Given the description of an element on the screen output the (x, y) to click on. 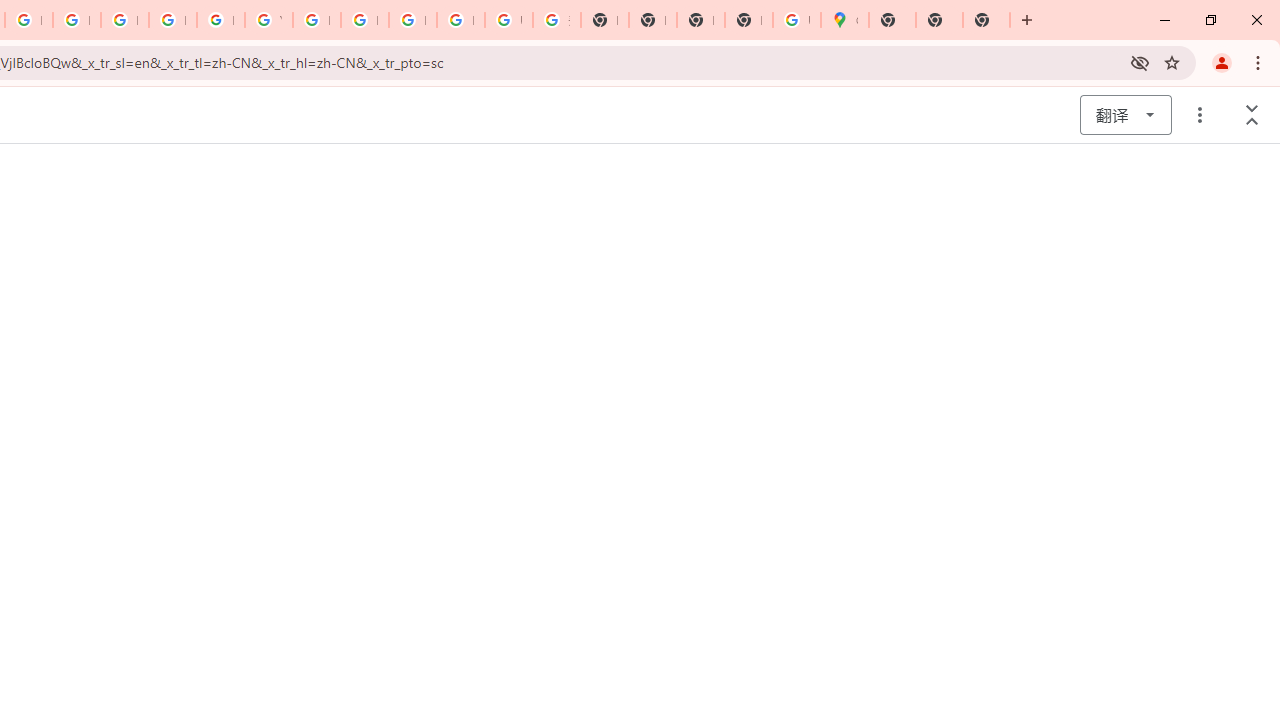
New Tab (748, 20)
Privacy Help Center - Policies Help (76, 20)
YouTube (268, 20)
New Tab (892, 20)
